Given the description of an element on the screen output the (x, y) to click on. 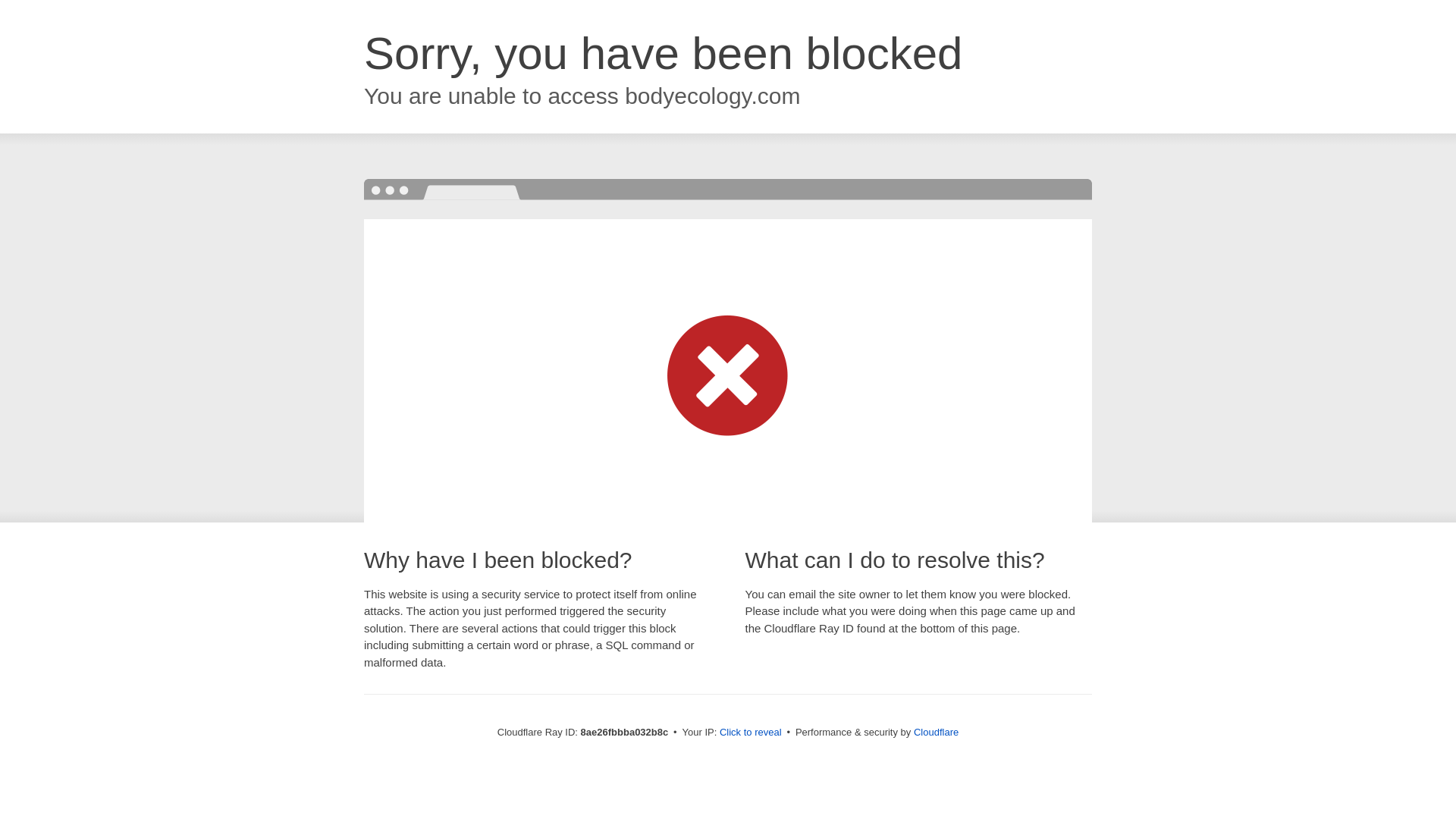
Cloudflare (936, 731)
Click to reveal (750, 732)
